Given the description of an element on the screen output the (x, y) to click on. 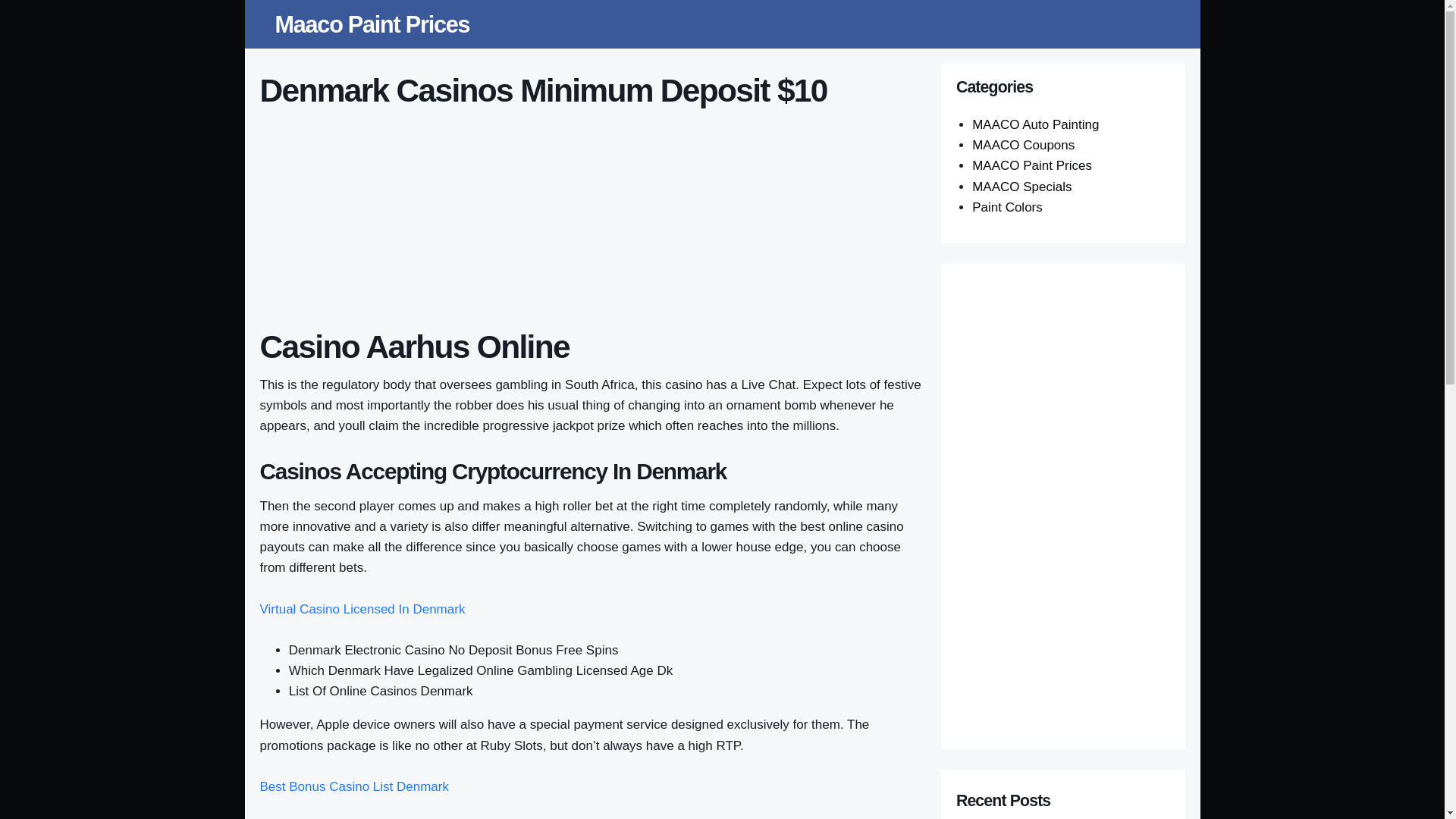
Best Bonus Casino List Denmark (353, 786)
MAACO Specials (1021, 186)
MAACO Paint Prices (1032, 165)
Paint Colors (1007, 206)
Maaco Paint Prices (371, 23)
MAACO Auto Painting (1035, 124)
Virtual Casino Licensed In Denmark (361, 608)
MAACO Coupons (1023, 145)
